Given the description of an element on the screen output the (x, y) to click on. 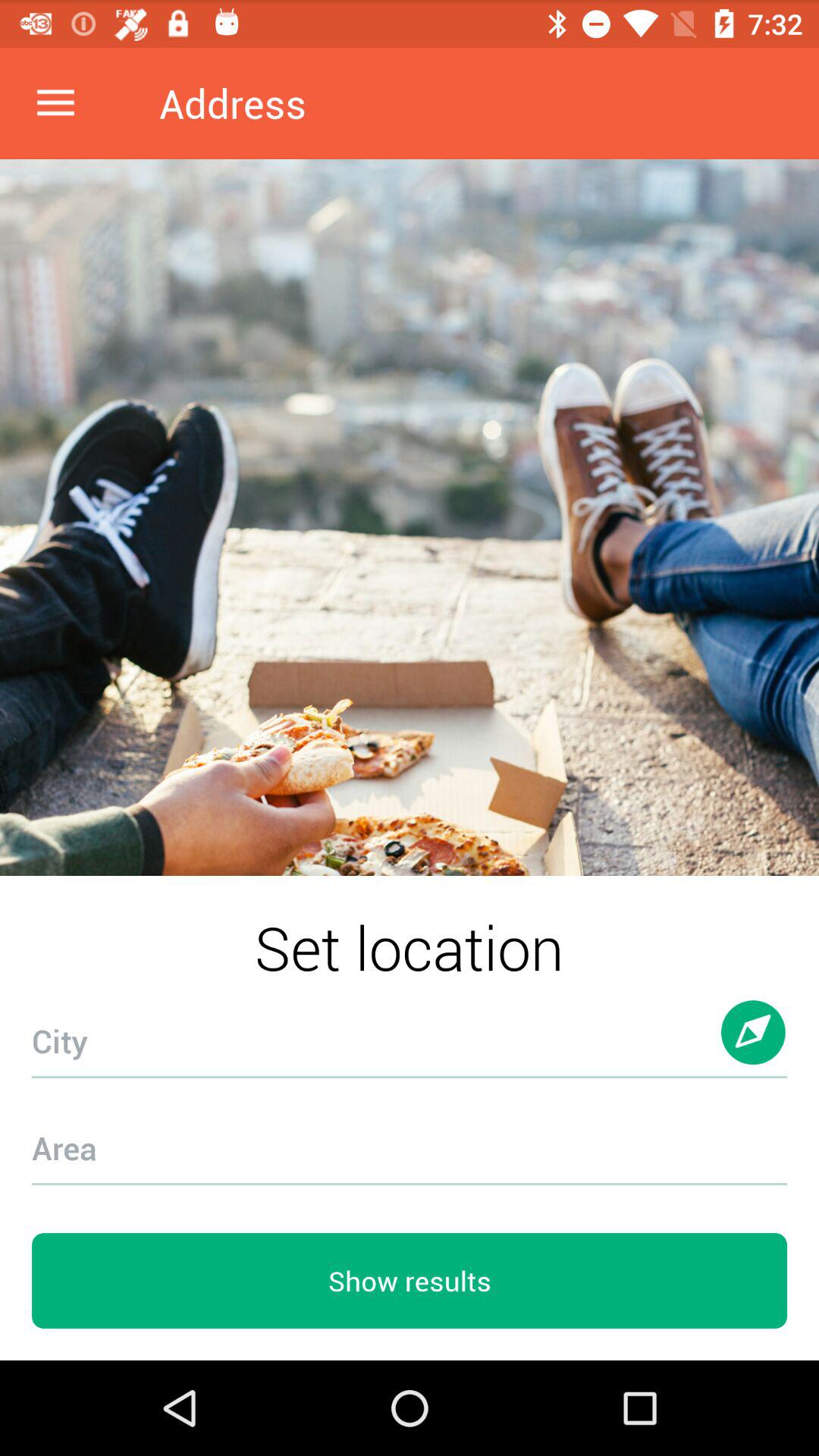
choose the icon below the set location (409, 1032)
